Given the description of an element on the screen output the (x, y) to click on. 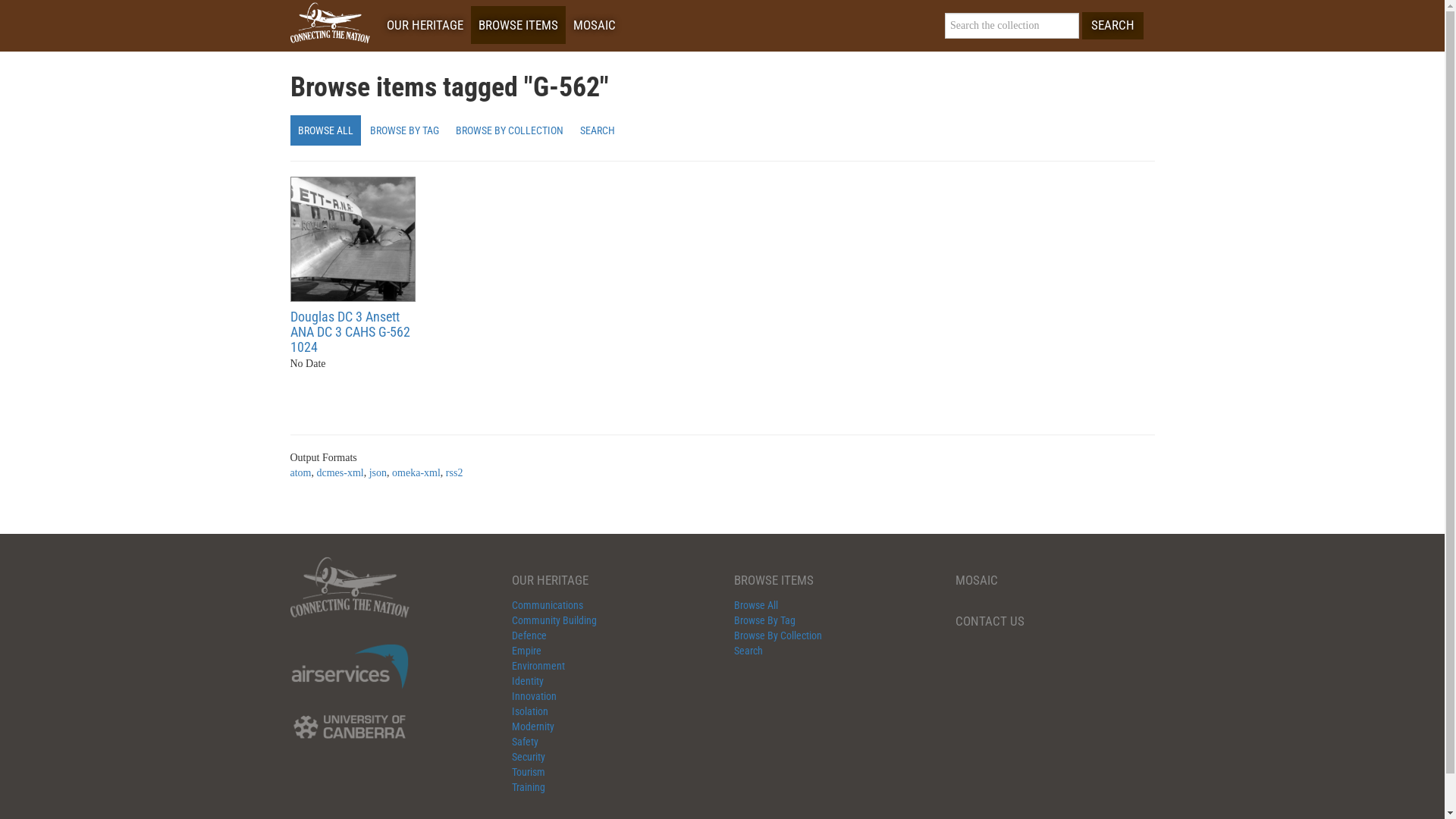
Browse By Collection Element type: text (778, 635)
Training Element type: text (528, 787)
Search Element type: text (748, 650)
BROWSE BY TAG Element type: text (404, 130)
Communications Element type: text (547, 605)
CONTACT US Element type: text (989, 620)
BROWSE ALL Element type: text (324, 130)
Environment Element type: text (537, 665)
BROWSE BY COLLECTION Element type: text (508, 130)
dcmes-xml Element type: text (340, 472)
Defence Element type: text (528, 635)
BROWSE ITEMS Element type: text (773, 579)
Douglas DC 3 Ansett ANA DC 3 CAHS G-562 1024 Element type: text (349, 331)
Isolation Element type: text (529, 711)
Browse All Element type: text (756, 605)
OUR HERITAGE Element type: text (549, 579)
omeka-xml Element type: text (416, 472)
json Element type: text (377, 472)
Tourism Element type: text (528, 771)
MOSAIC Element type: text (594, 24)
Douglas DC 3 Ansett ANA DC 3 CAHS G-562 1024 Element type: hover (351, 238)
SEARCH Element type: text (596, 130)
Identity Element type: text (527, 680)
OUR HERITAGE Element type: text (424, 24)
Security Element type: text (528, 756)
Safety Element type: text (524, 741)
BROWSE ITEMS Element type: text (517, 24)
SEARCH Element type: text (1111, 25)
MOSAIC Element type: text (976, 579)
Innovation Element type: text (533, 696)
Modernity Element type: text (532, 726)
Empire Element type: text (526, 650)
Community Building Element type: text (553, 620)
atom Element type: text (299, 472)
Browse By Tag Element type: text (764, 620)
rss2 Element type: text (454, 472)
